Given the description of an element on the screen output the (x, y) to click on. 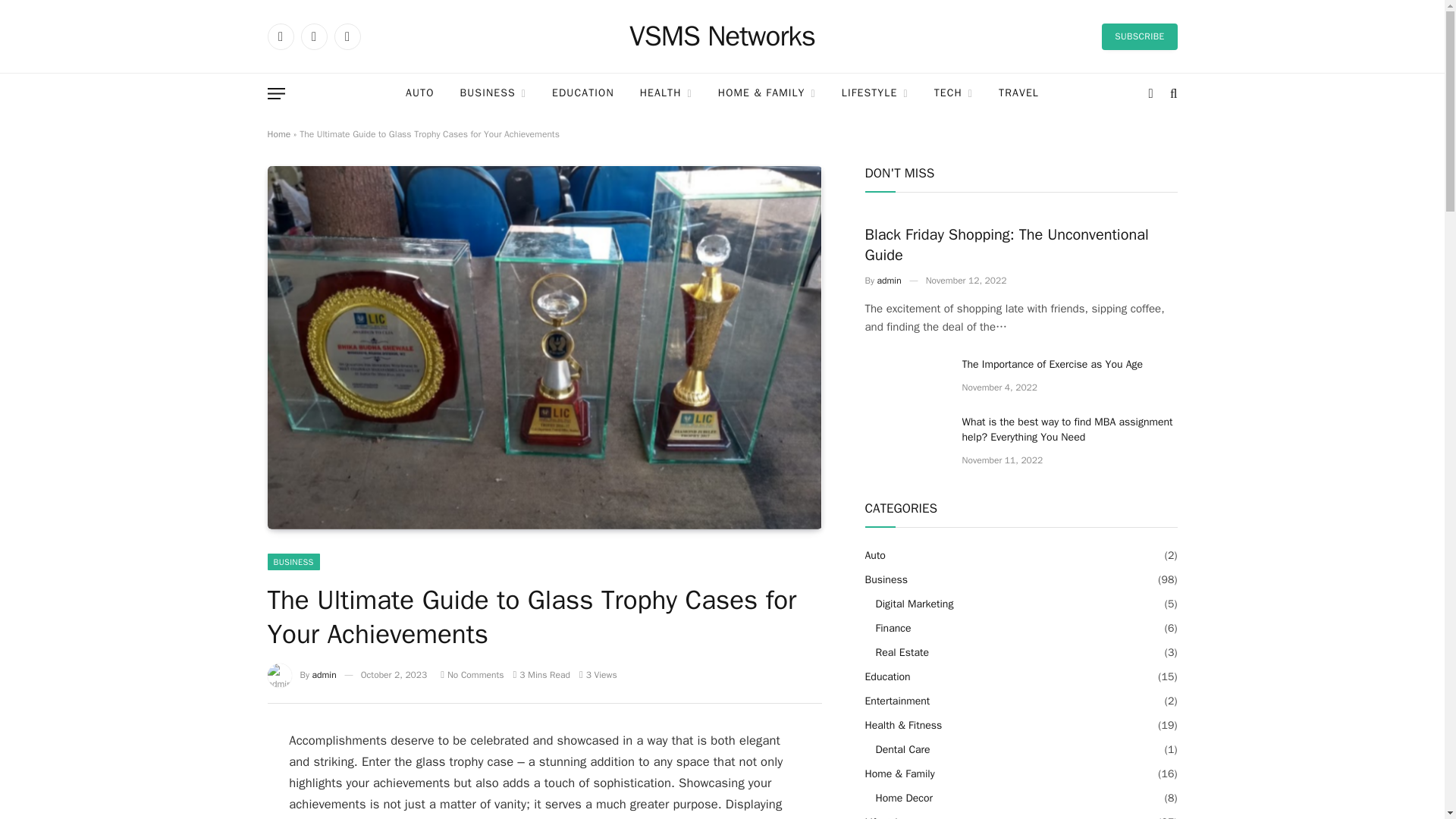
Facebook (280, 35)
HEALTH (665, 93)
VSMS Networks (721, 36)
3 Article Views (598, 674)
LIFESTYLE (874, 93)
AUTO (419, 93)
TECH (953, 93)
SUBSCRIBE (1139, 35)
TRAVEL (1018, 93)
VSMS Networks (721, 36)
